Given the description of an element on the screen output the (x, y) to click on. 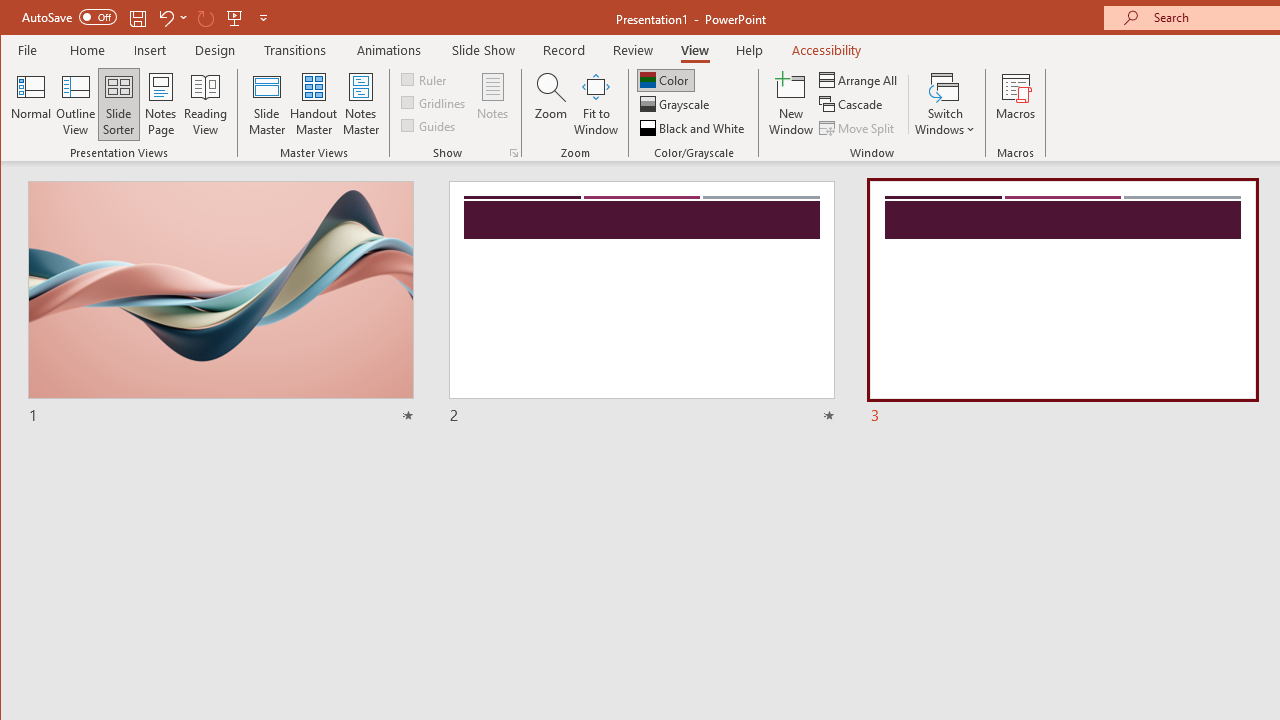
Black and White (694, 127)
Ruler (425, 78)
Gridlines (435, 101)
Slide Master (266, 104)
Move Split (858, 127)
New Window (791, 104)
Zoom... (550, 104)
Notes Master (360, 104)
